Given the description of an element on the screen output the (x, y) to click on. 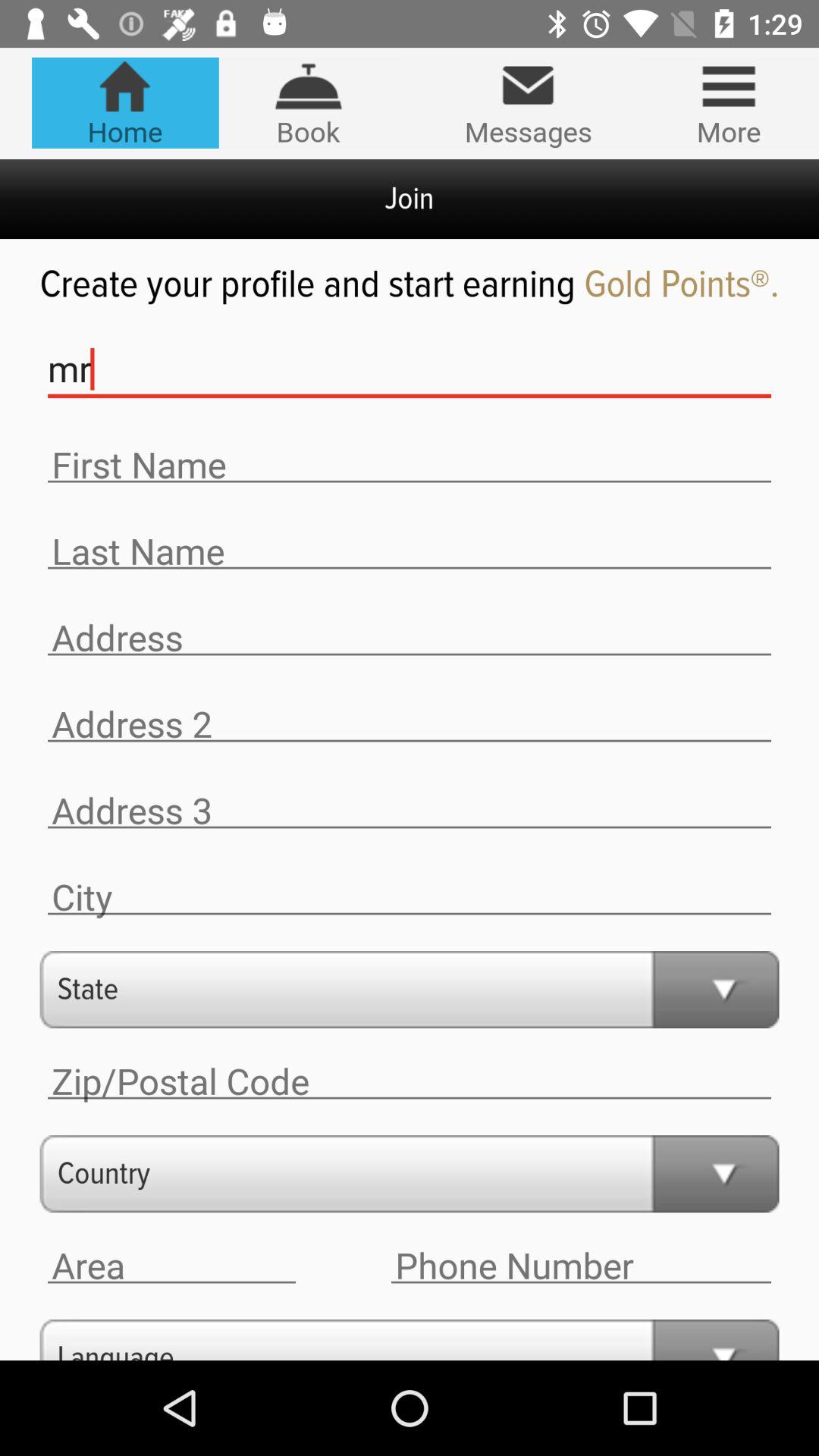
address (171, 1266)
